Given the description of an element on the screen output the (x, y) to click on. 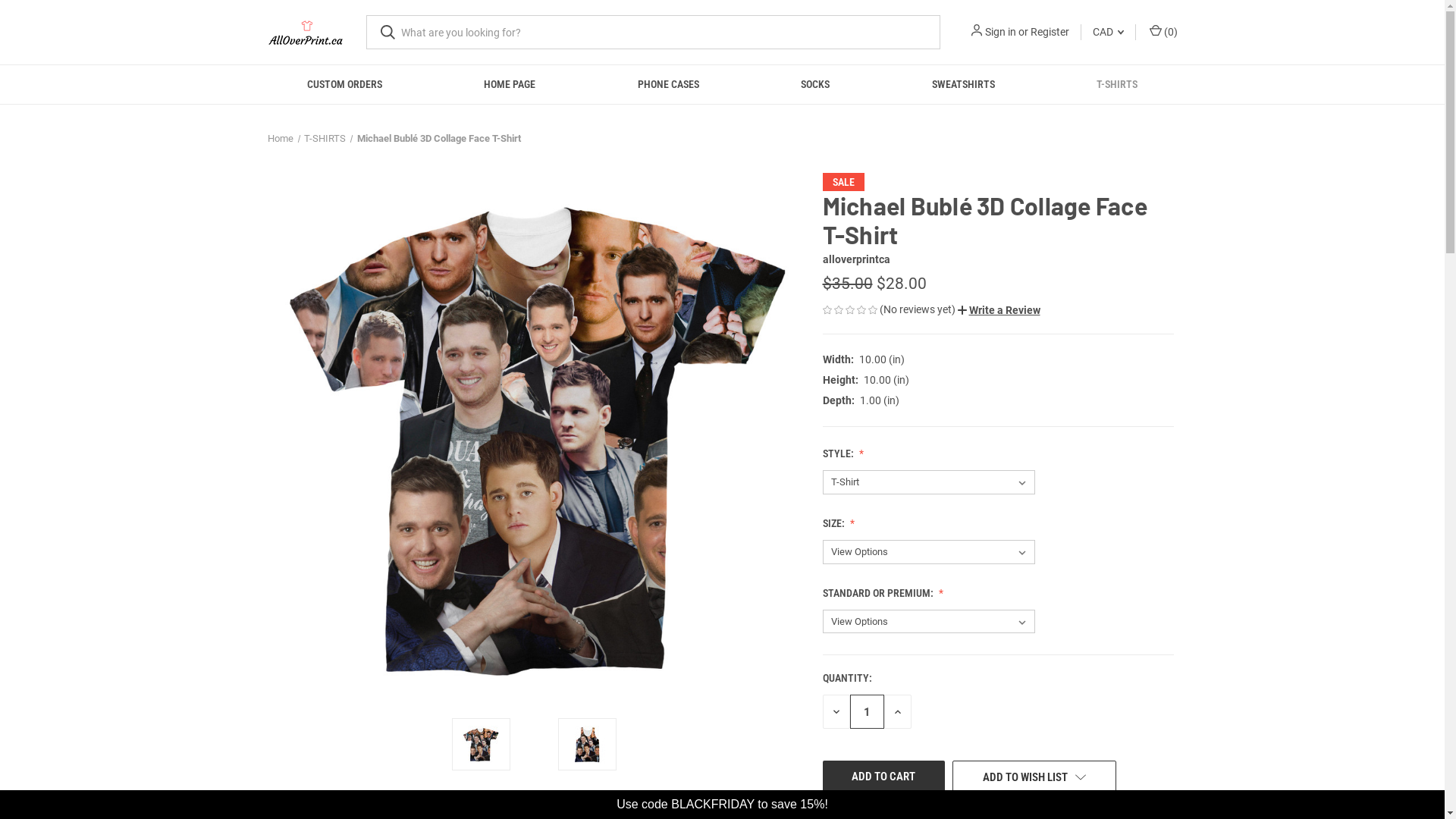
ADD TO WISH LIST Element type: text (1034, 776)
T-SHIRTS Element type: text (324, 138)
HOME PAGE Element type: text (509, 84)
(0) Element type: text (1161, 32)
Home Element type: text (279, 138)
CAD Element type: text (1108, 32)
SOCKS Element type: text (815, 84)
alloverprintca Element type: text (855, 259)
Write a Review Element type: text (998, 310)
SWEATSHIRTS Element type: text (963, 84)
INCREASE QUANTITY OF UNDEFINED Element type: text (897, 711)
Sign in Element type: text (999, 32)
CUSTOM ORDERS Element type: text (344, 84)
Register Element type: text (1048, 32)
Add to Cart Element type: text (883, 776)
DECREASE QUANTITY OF UNDEFINED Element type: text (835, 711)
AllOverPrint.ca Element type: hover (304, 32)
Write a Review Element type: text (998, 310)
T-SHIRTS Element type: text (1117, 84)
PHONE CASES Element type: text (668, 84)
